Given the description of an element on the screen output the (x, y) to click on. 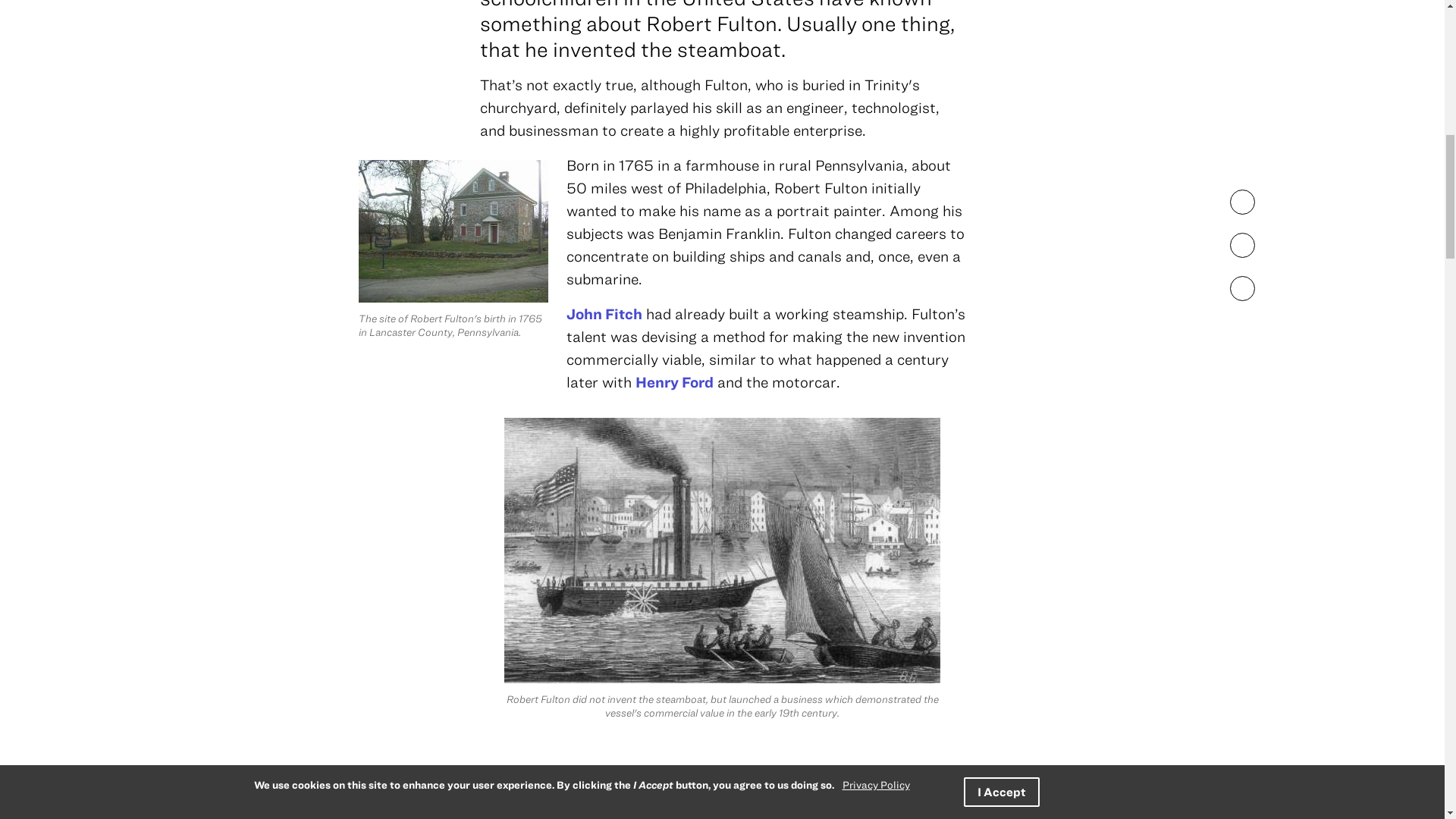
Clermont (813, 795)
Henry Ford (673, 381)
John Fitch (604, 313)
